Given the description of an element on the screen output the (x, y) to click on. 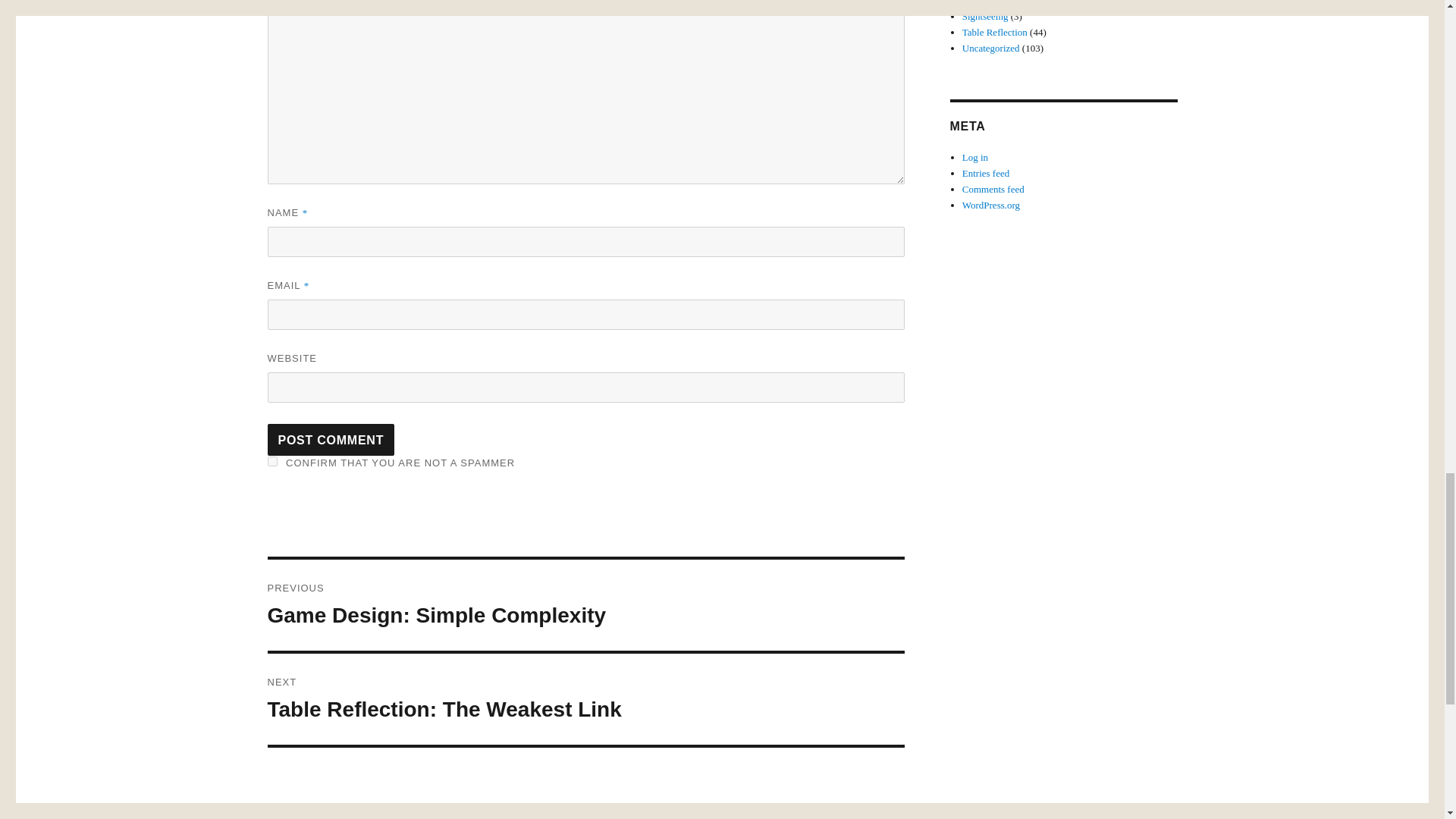
Post Comment (330, 439)
Post Comment (330, 439)
on (585, 698)
